Given the description of an element on the screen output the (x, y) to click on. 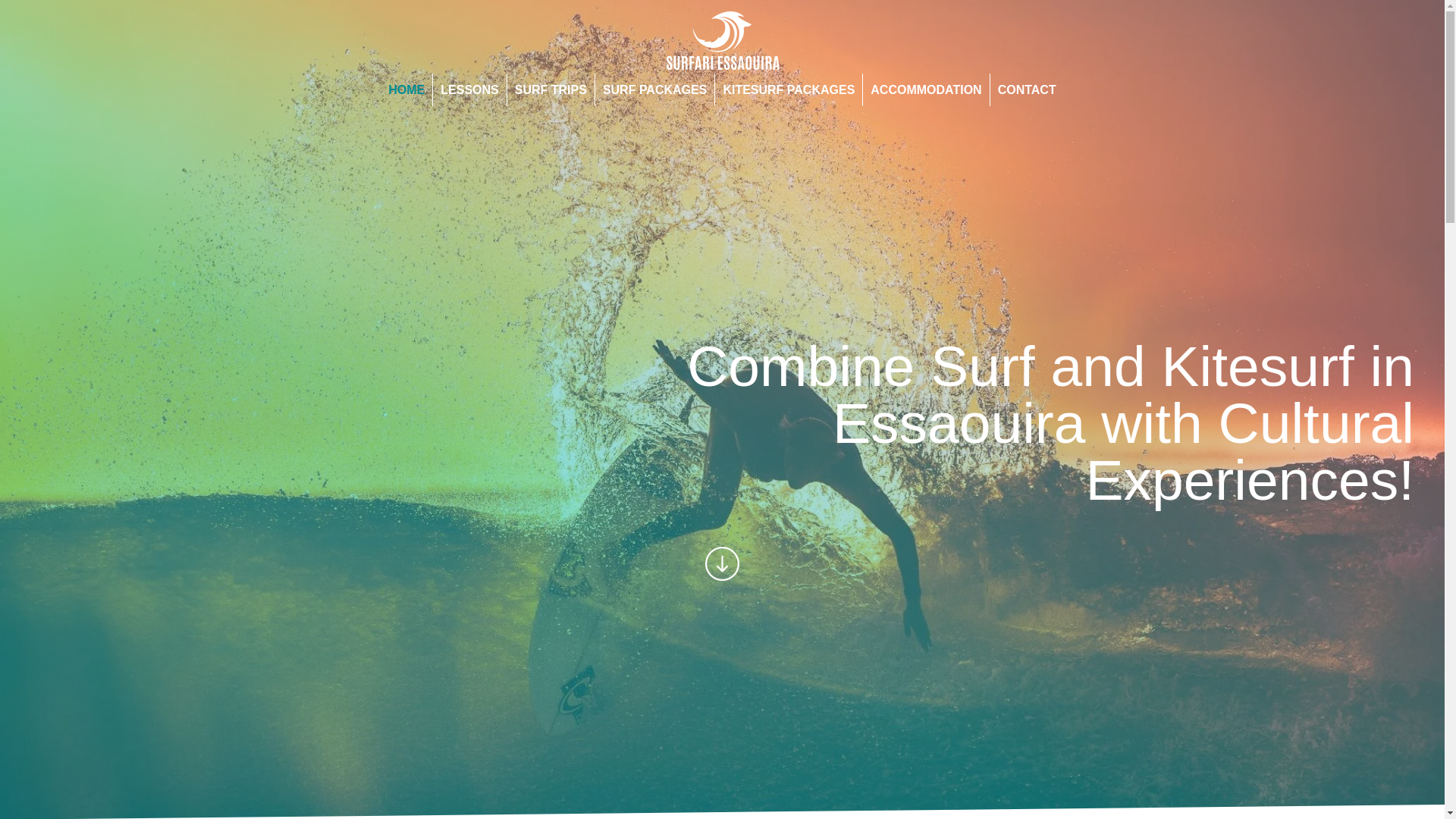
SURF PACKAGES (654, 89)
SURF TRIPS (550, 89)
HOME (406, 89)
CONTACT (1027, 89)
LESSONS (468, 89)
ACCOMMODATION (925, 89)
logo-surfariessaouira-ver2-white-trans-160px (722, 40)
down-arrow-45 (721, 562)
KITESURF PACKAGES (787, 89)
